Given the description of an element on the screen output the (x, y) to click on. 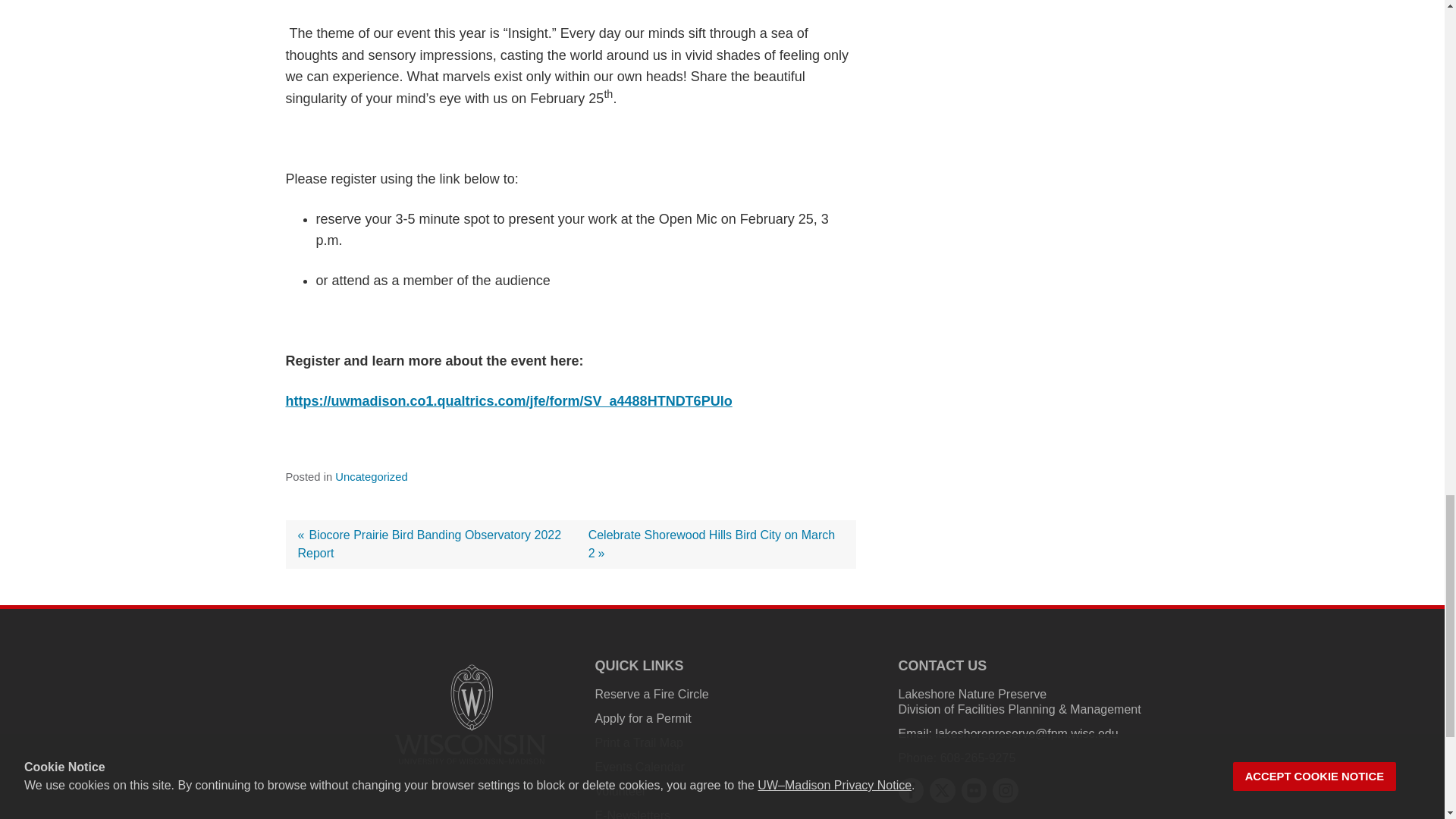
facebook (910, 790)
instagram (1005, 790)
flickr (973, 790)
University logo that links to main university website (470, 714)
x twitter (941, 790)
